Given the description of an element on the screen output the (x, y) to click on. 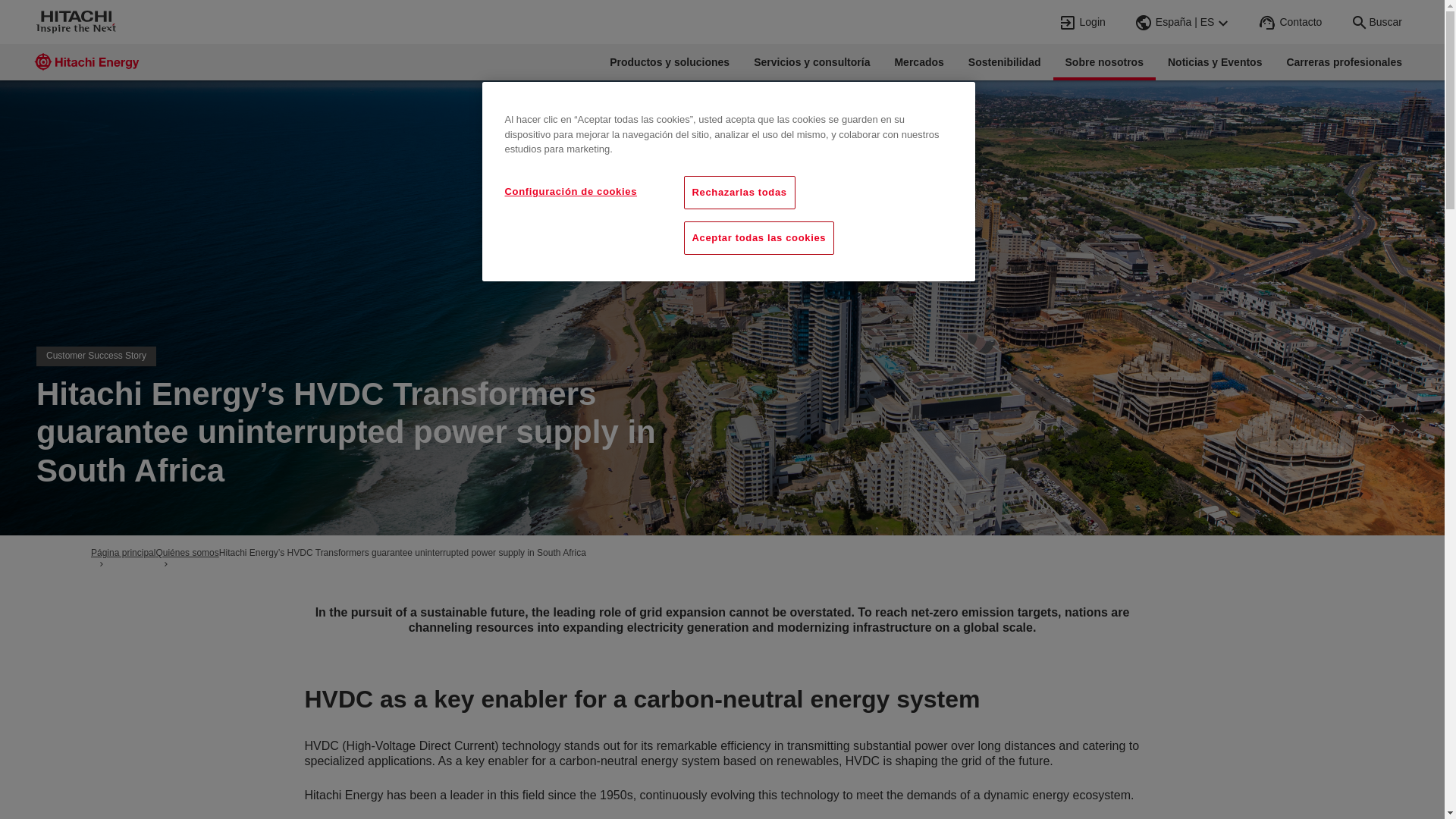
Login (1083, 21)
Buscar (1375, 22)
Productos y soluciones (668, 62)
Mercados (918, 62)
Contacto (1290, 21)
Productos y soluciones (668, 62)
